Given the description of an element on the screen output the (x, y) to click on. 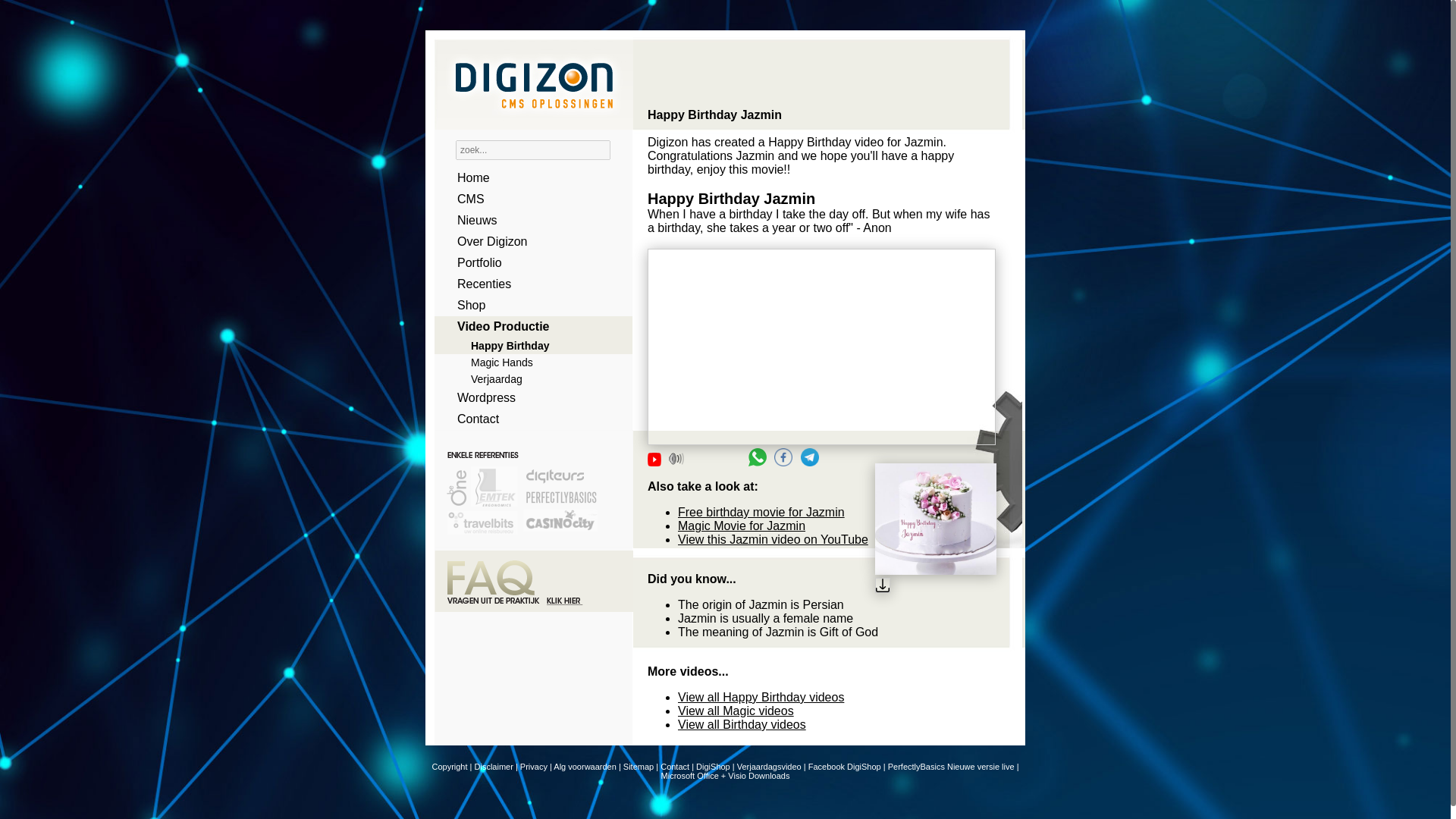
Happy Birthday (528, 345)
Privacy (533, 766)
Copyright (448, 766)
Over Digizon (528, 241)
View all Magic videos (735, 710)
Magic Movie for Jazmin (741, 525)
View all Birthday videos (742, 724)
Sitemap (638, 766)
Shop (528, 305)
Facebook DigiShop (844, 766)
Free birthday movie for Jazmin (761, 512)
Pronounce Jazmin (676, 458)
Contact (528, 418)
Happy Birthday Jazmin (821, 346)
Magic Hands (528, 362)
